Given the description of an element on the screen output the (x, y) to click on. 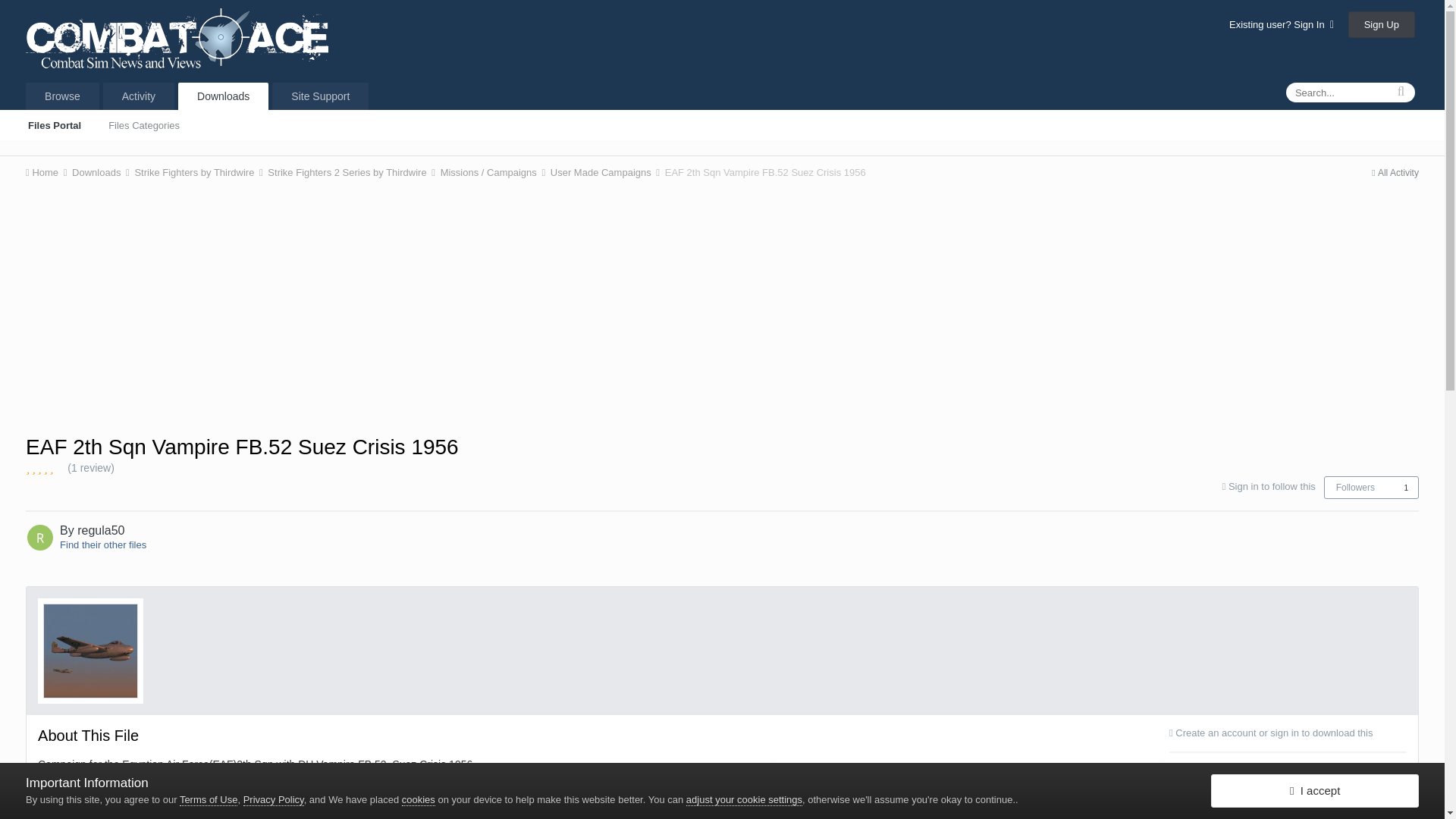
Go to the sign in page (1272, 486)
Files Portal (54, 123)
Strike Fighters by Thirdwire (198, 172)
Advertisement (721, 305)
Site Support (320, 95)
Get support for this download (1287, 779)
Activity (138, 95)
Downloads (222, 95)
Existing user? Sign In   (1280, 24)
See who follows this (1405, 487)
